Given the description of an element on the screen output the (x, y) to click on. 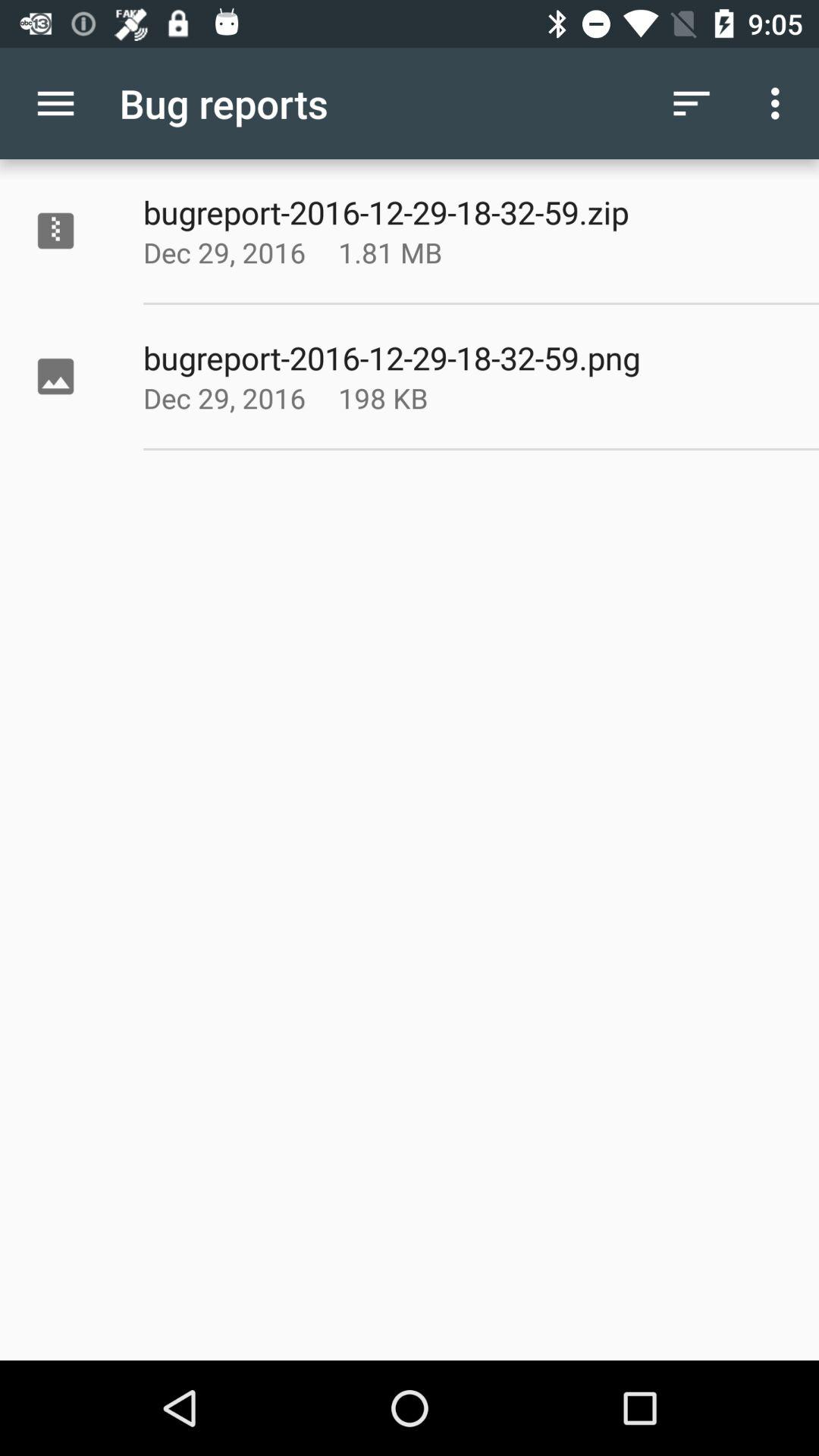
click the item above the bugreport 2016 12 app (427, 252)
